Given the description of an element on the screen output the (x, y) to click on. 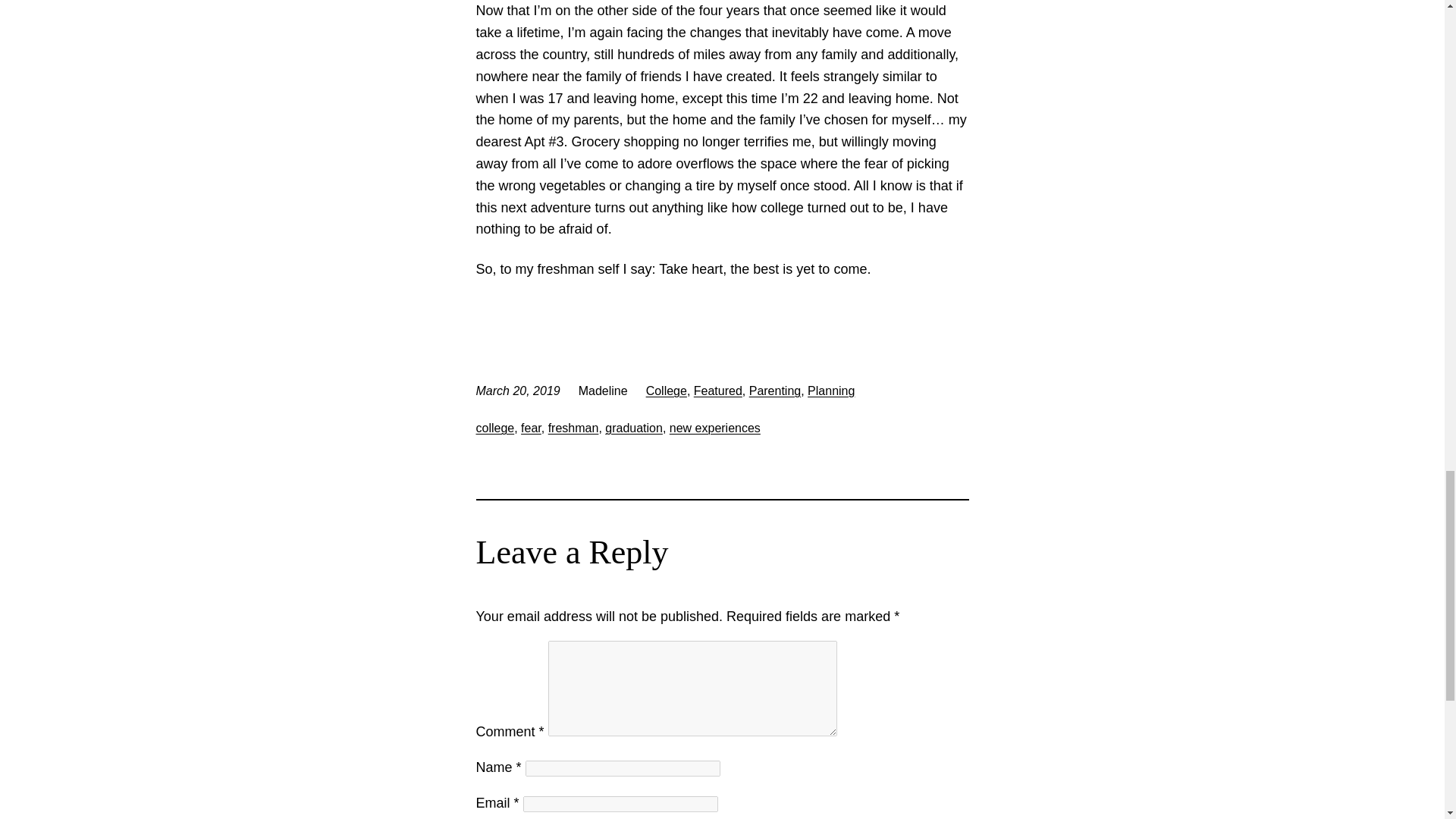
fear (531, 427)
freshman (573, 427)
Planning (831, 390)
Featured (718, 390)
graduation (633, 427)
College (666, 390)
Parenting (775, 390)
new experiences (714, 427)
college (495, 427)
